Given the description of an element on the screen output the (x, y) to click on. 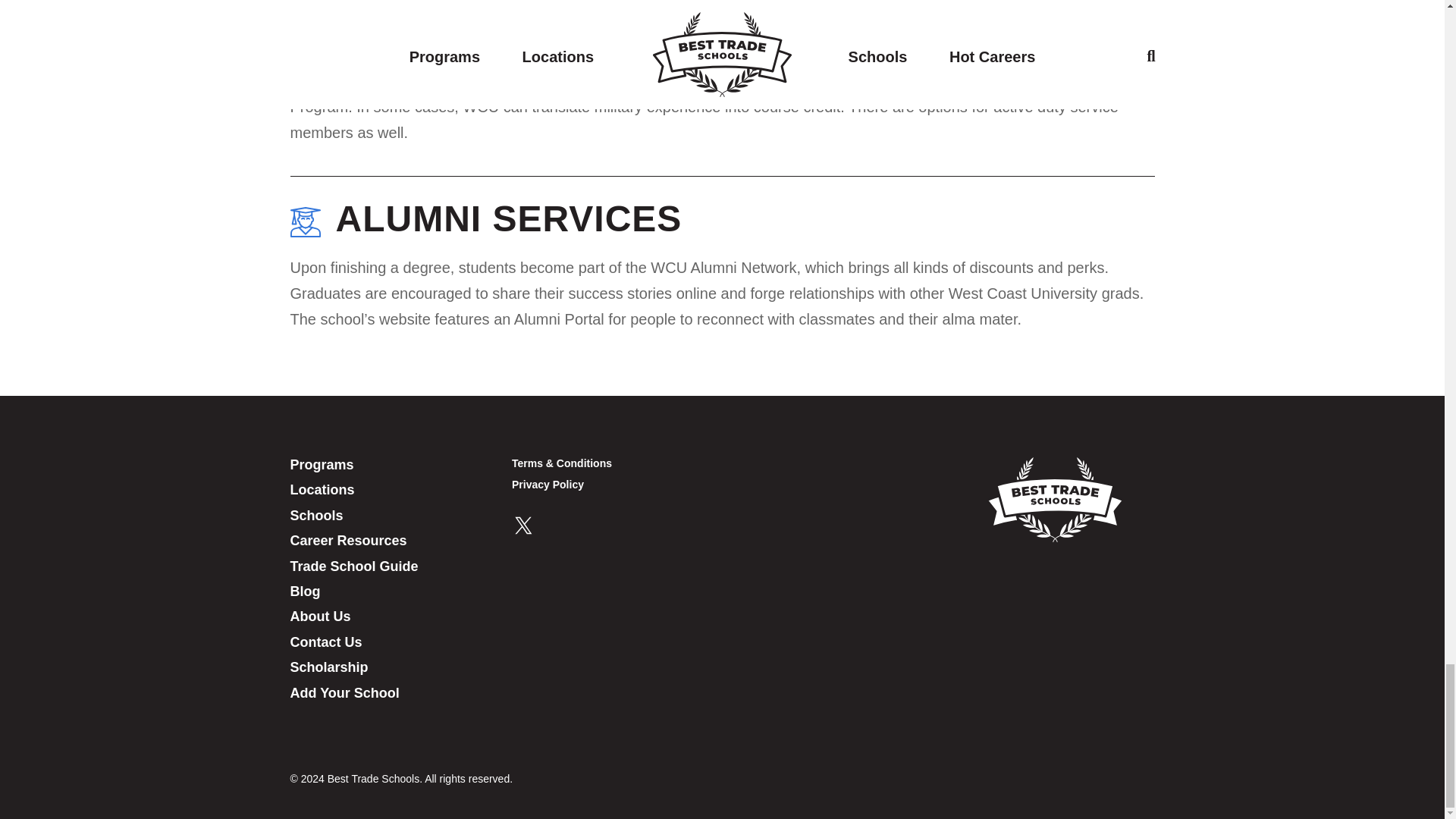
Best Trade Schools (1054, 499)
